Given the description of an element on the screen output the (x, y) to click on. 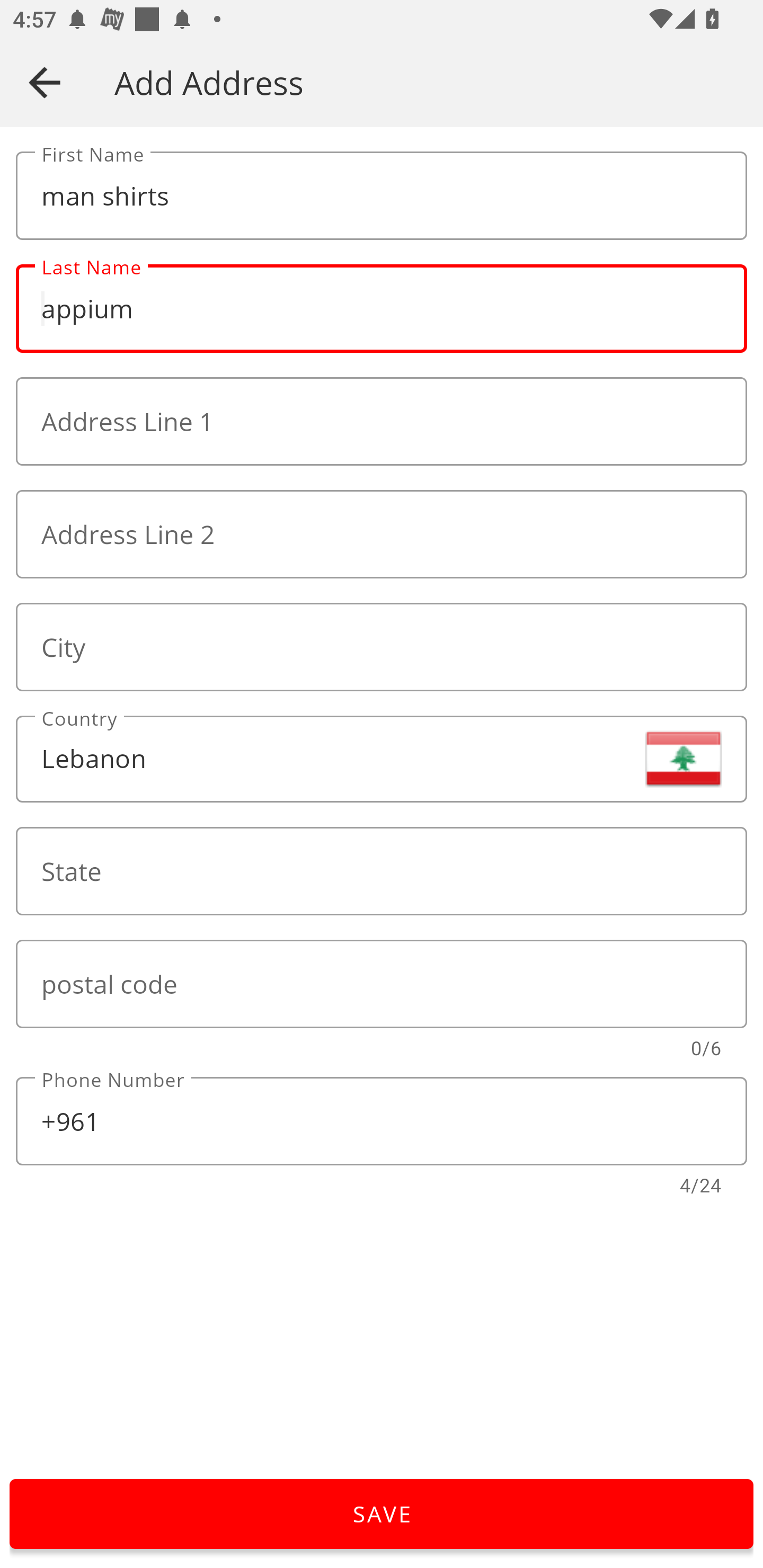
Navigate up (44, 82)
man shirts (381, 195)
appium (381, 308)
Address Line 1 (381, 421)
Address Line 2 (381, 533)
City (381, 646)
Lebanon (381, 758)
State (381, 870)
postal code (381, 983)
+961 (381, 1121)
SAVE (381, 1513)
